Given the description of an element on the screen output the (x, y) to click on. 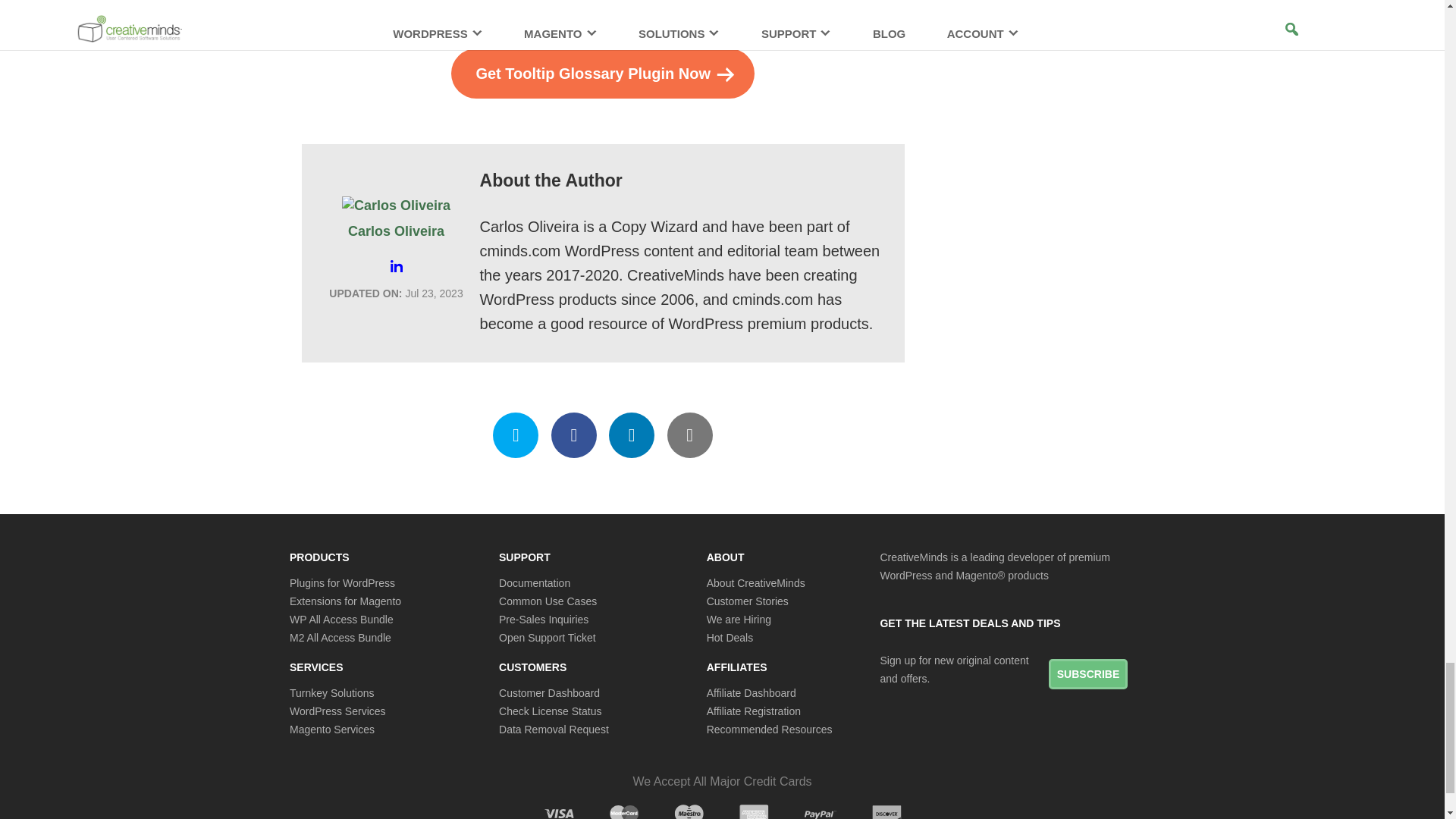
sahre post using email (689, 434)
Share post on LinkedIn (630, 434)
Share post on Facebook (573, 434)
Share post on Twitter (515, 434)
